Given the description of an element on the screen output the (x, y) to click on. 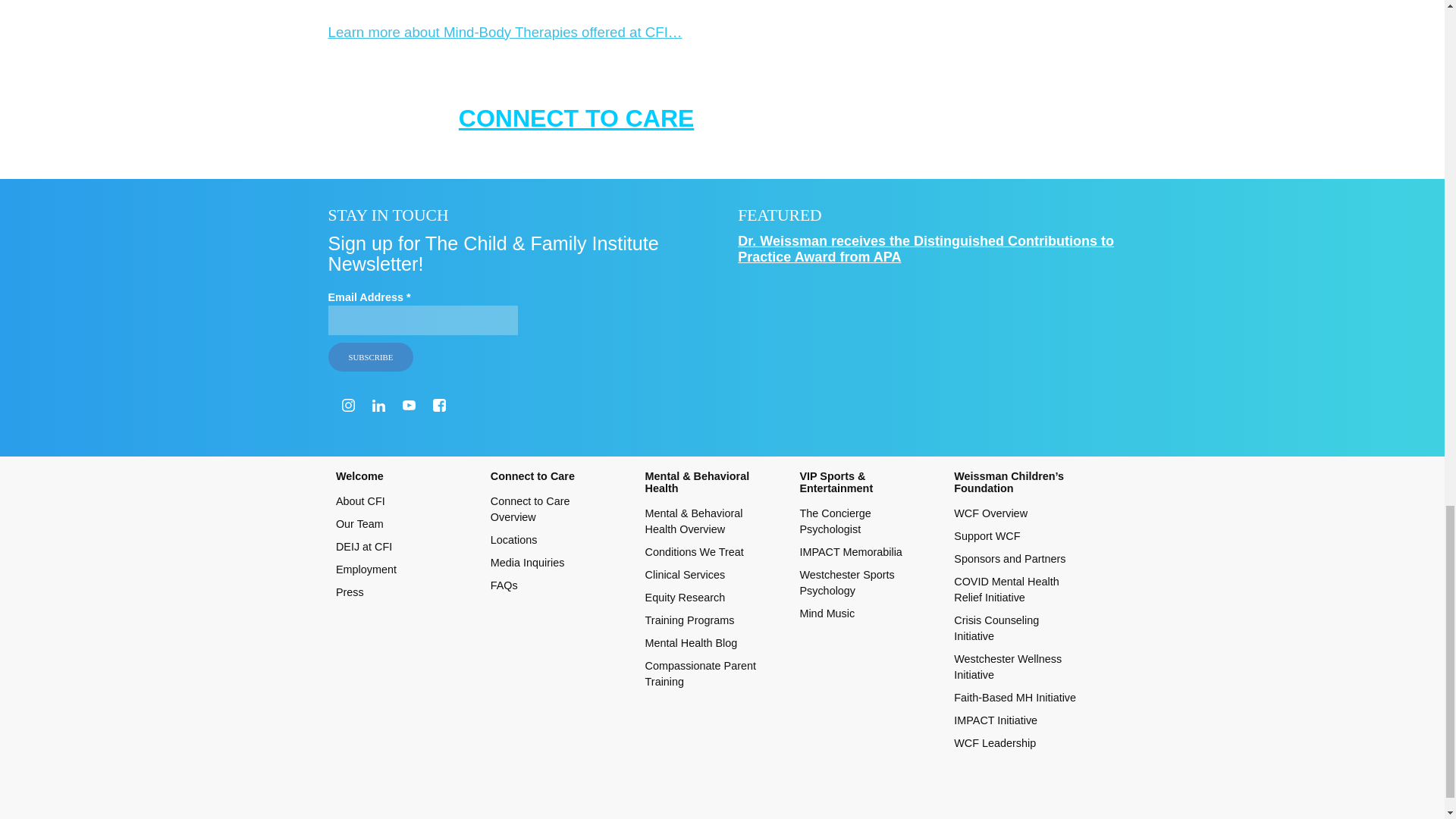
See Child and Family Institute on Linkedin (378, 405)
See Child and Family Institute on Instagram (346, 404)
See Child and Family Institute on Youtube (408, 404)
See Child and Family Institute on Facebook (438, 404)
Subscribe (370, 357)
